Given the description of an element on the screen output the (x, y) to click on. 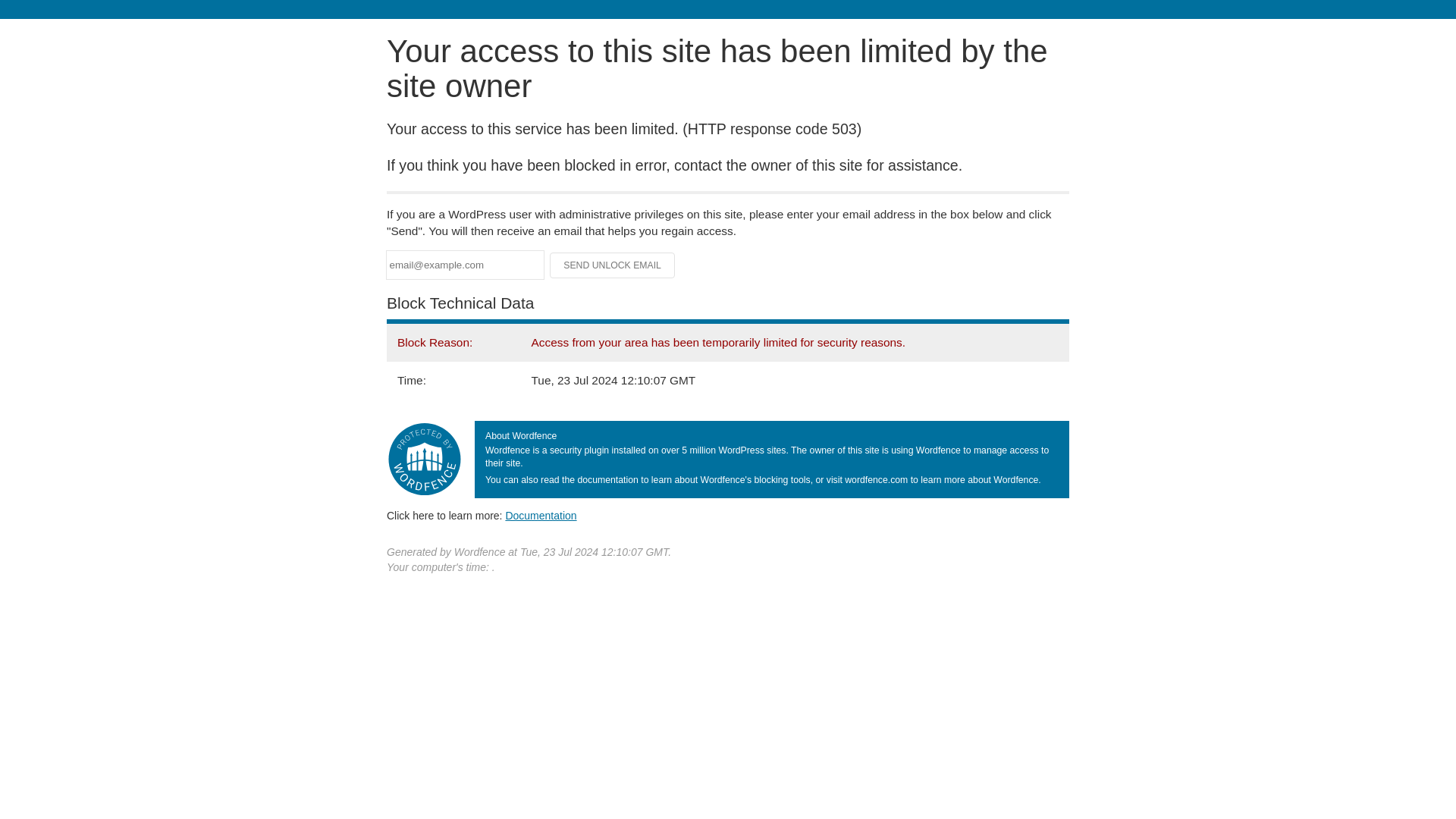
Send Unlock Email (612, 265)
Send Unlock Email (612, 265)
Documentation (540, 515)
